Given the description of an element on the screen output the (x, y) to click on. 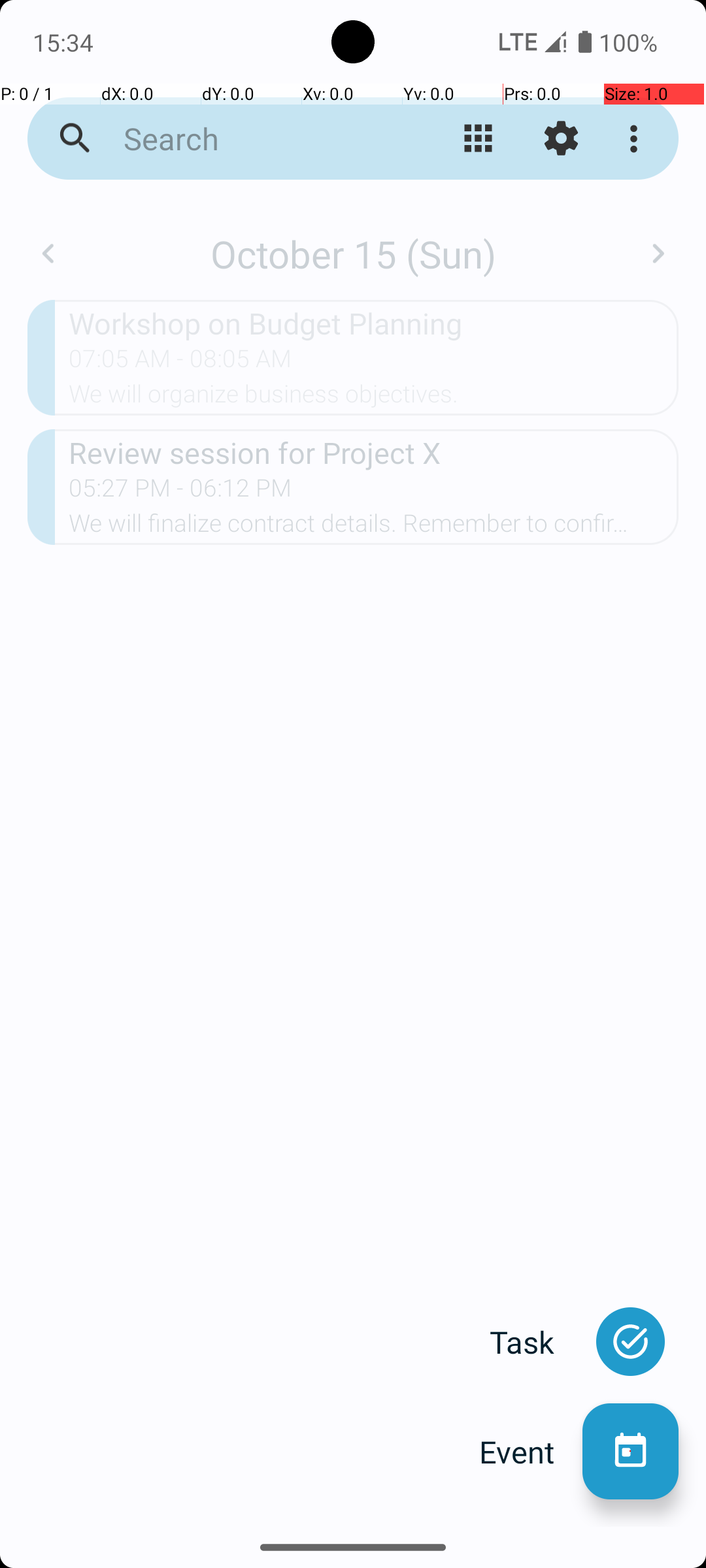
07:05 AM - 08:05 AM Element type: android.widget.TextView (179, 362)
We will organize business objectives. Element type: android.widget.TextView (373, 397)
05:27 PM - 06:12 PM Element type: android.widget.TextView (179, 491)
We will finalize contract details. Remember to confirm attendance. Element type: android.widget.TextView (373, 526)
